Given the description of an element on the screen output the (x, y) to click on. 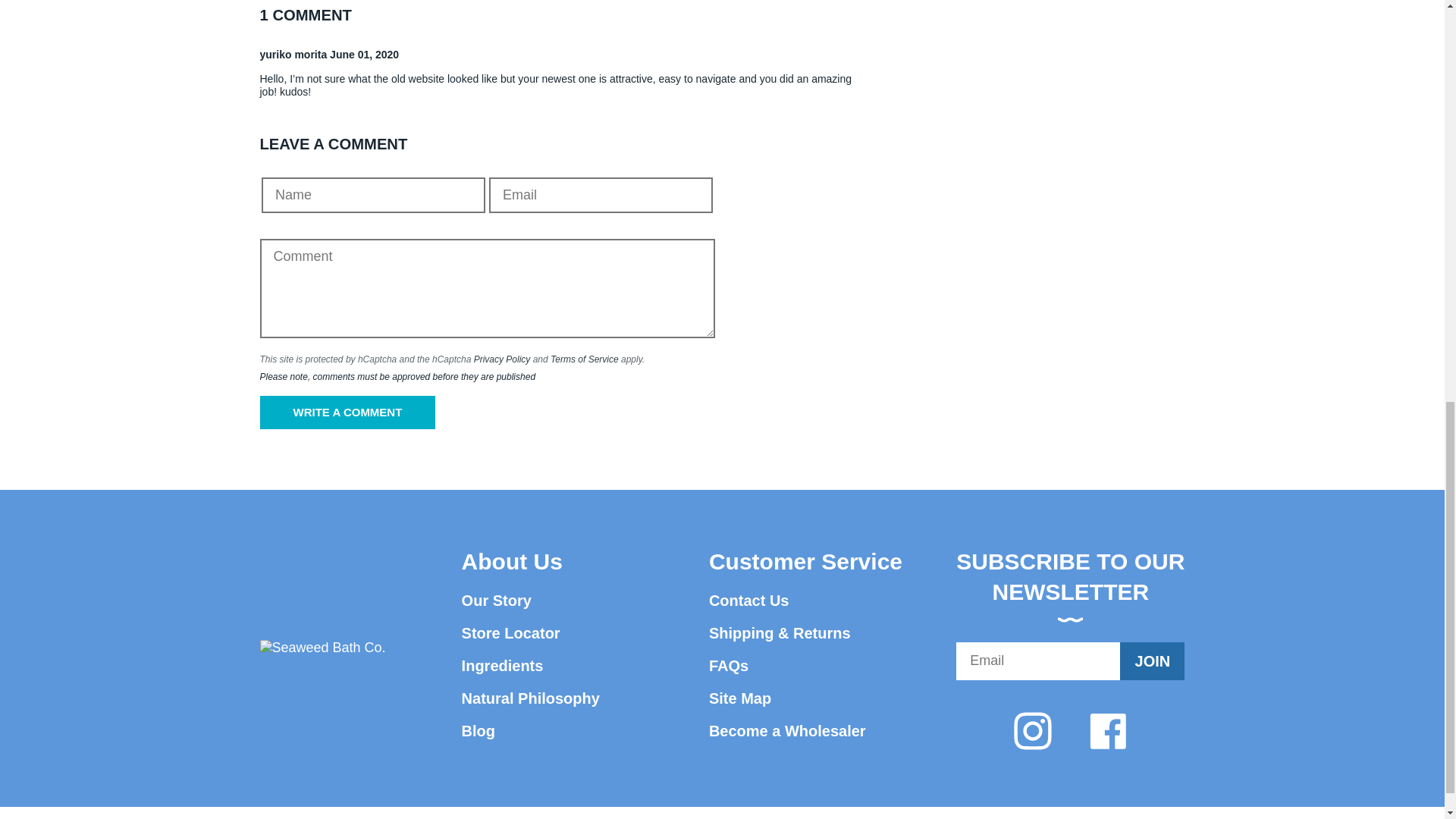
The Seaweed Bath Co. on Facebook (1107, 729)
The Seaweed Bath Co. on Instagram (1032, 729)
Write a comment (347, 412)
